Given the description of an element on the screen output the (x, y) to click on. 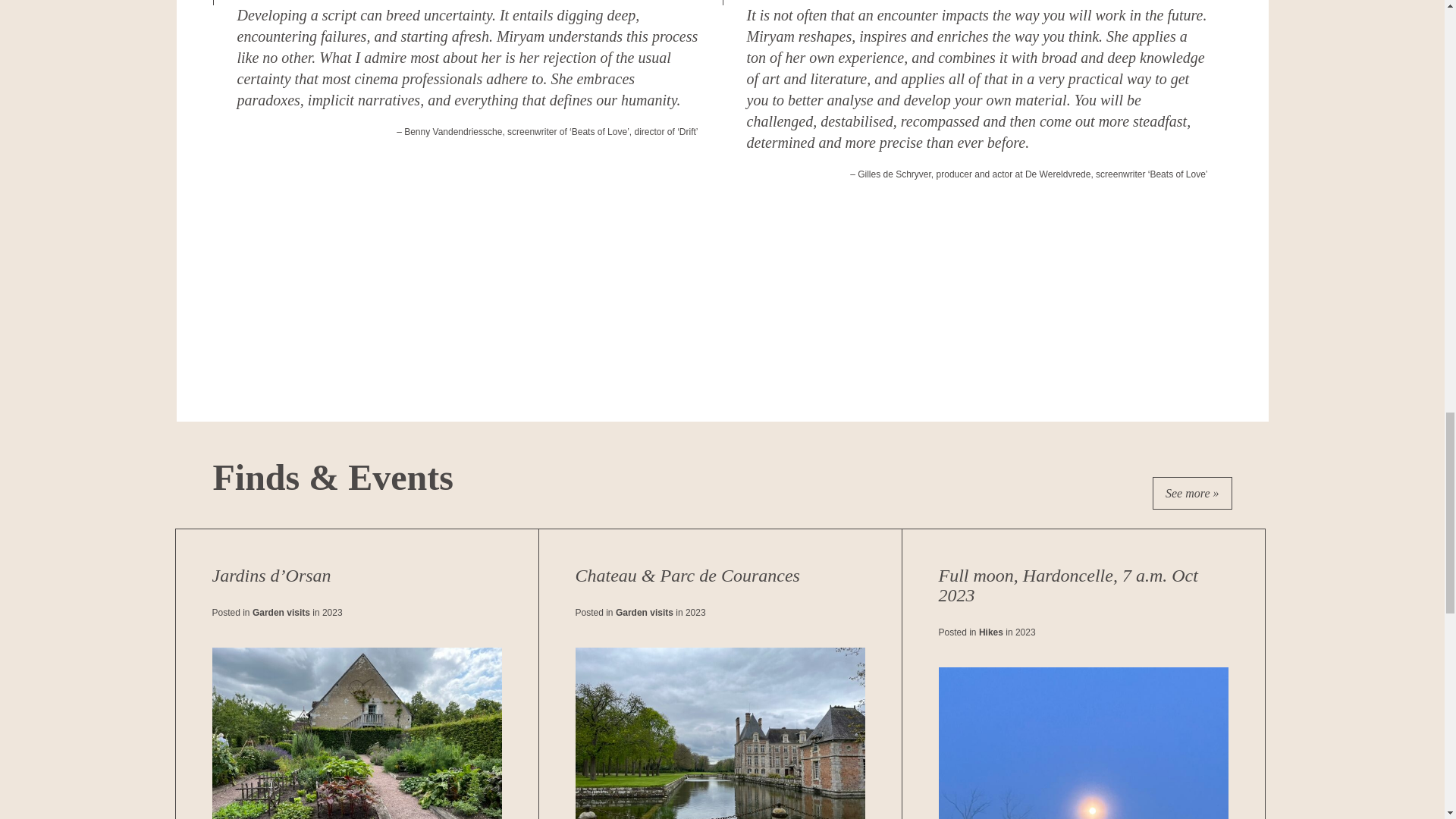
Full moon, Hardoncelle, 7 a.m. Oct 2023 (1083, 673)
